Given the description of an element on the screen output the (x, y) to click on. 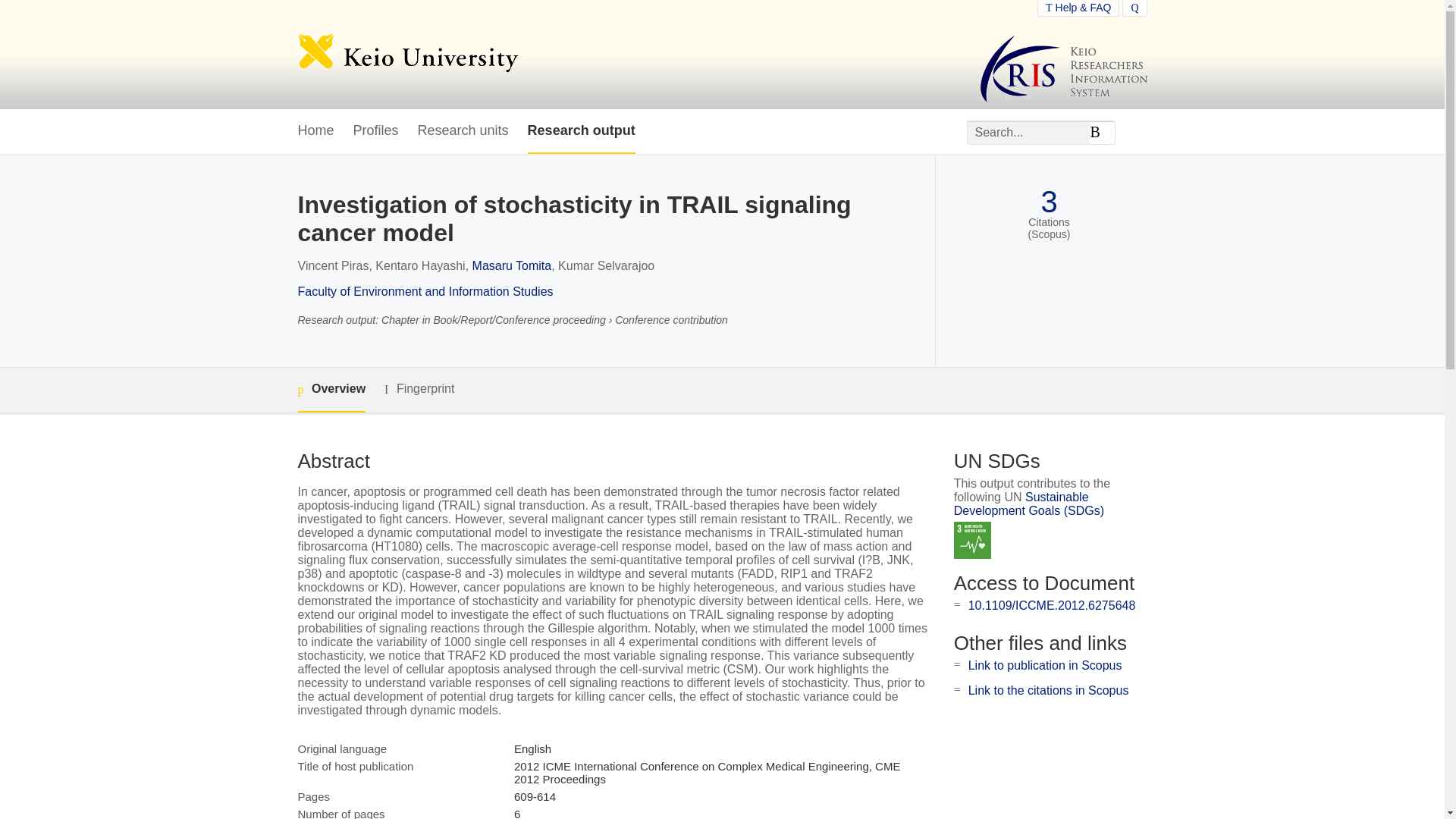
Overview (331, 389)
Masaru Tomita (511, 265)
Keio University Home (407, 54)
Fingerprint (419, 389)
Faculty of Environment and Information Studies (425, 291)
Research units (462, 130)
Research output (580, 130)
Link to the citations in Scopus (1048, 689)
Link to publication in Scopus (1045, 665)
